Given the description of an element on the screen output the (x, y) to click on. 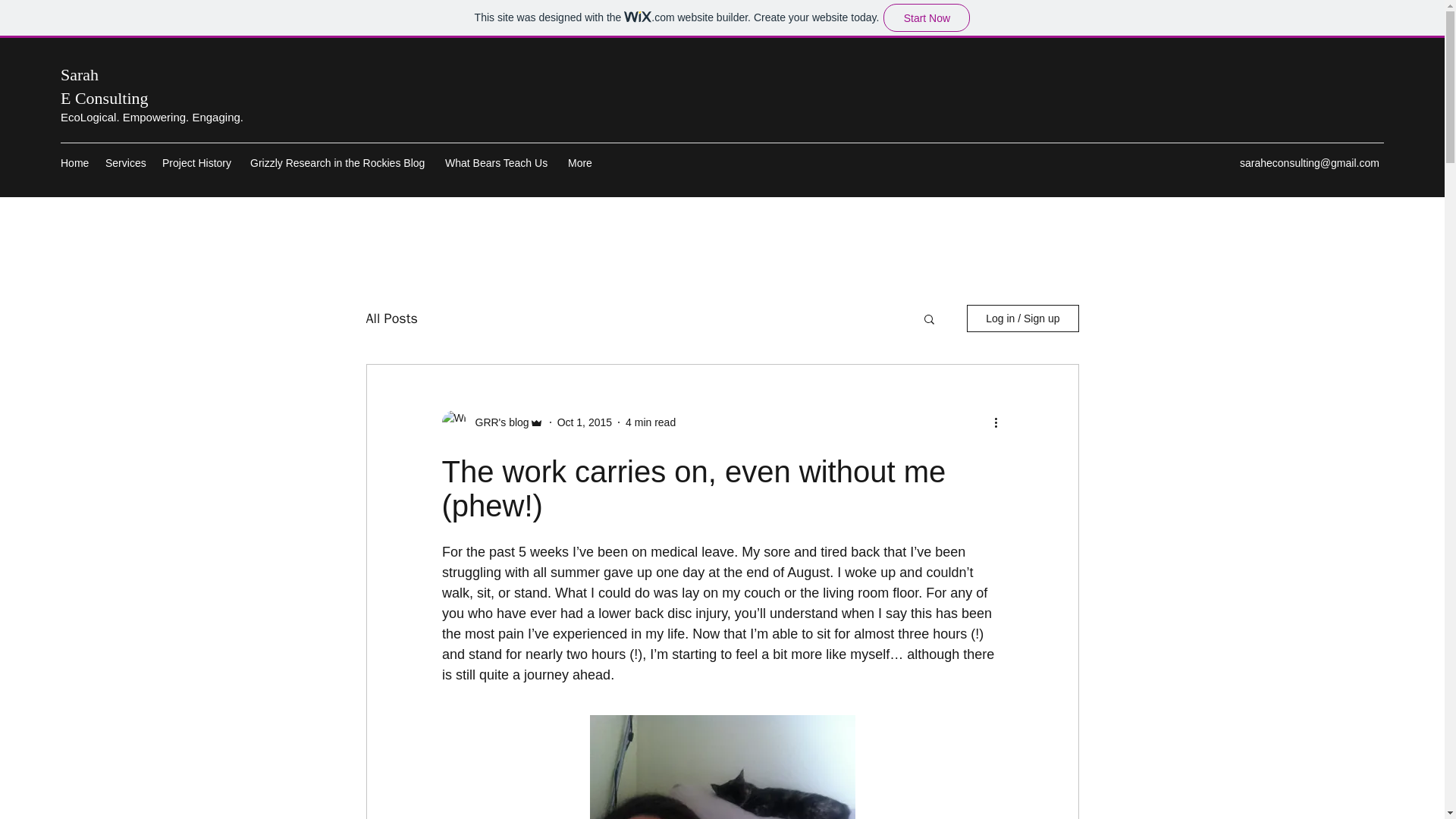
Oct 1, 2015 (584, 422)
Home (74, 162)
Sarah E Consulting (104, 86)
Grizzly Research in the Rockies Blog (340, 162)
GRR's blog (496, 422)
What Bears Teach Us (499, 162)
All Posts (390, 318)
4 min read (650, 422)
Project History (198, 162)
Services (125, 162)
